Given the description of an element on the screen output the (x, y) to click on. 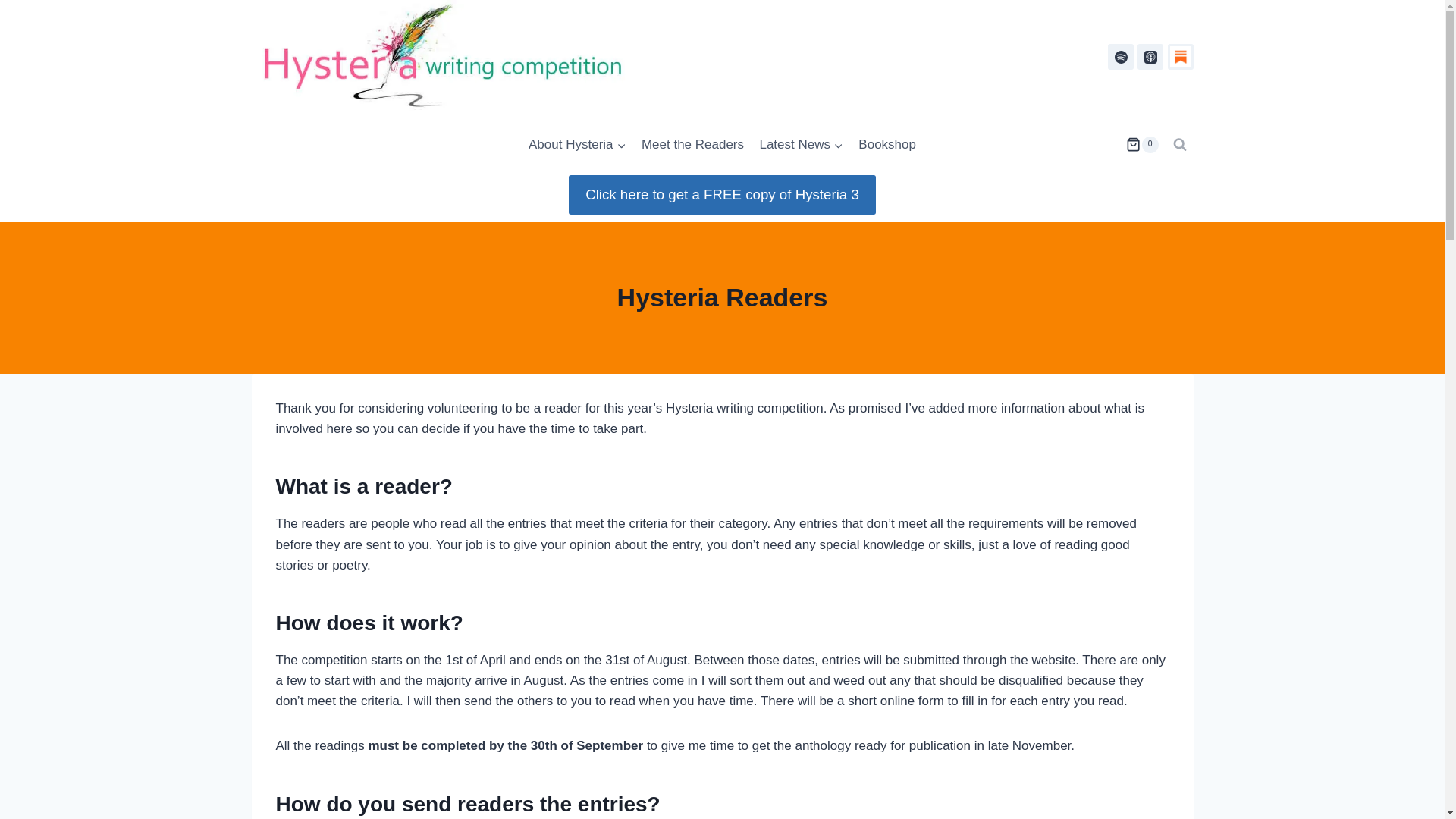
Click here to get a FREE copy of Hysteria 3 (722, 194)
0 (1141, 144)
Bookshop (886, 144)
Latest News (800, 144)
About Hysteria (577, 144)
Meet the Readers (692, 144)
